Given the description of an element on the screen output the (x, y) to click on. 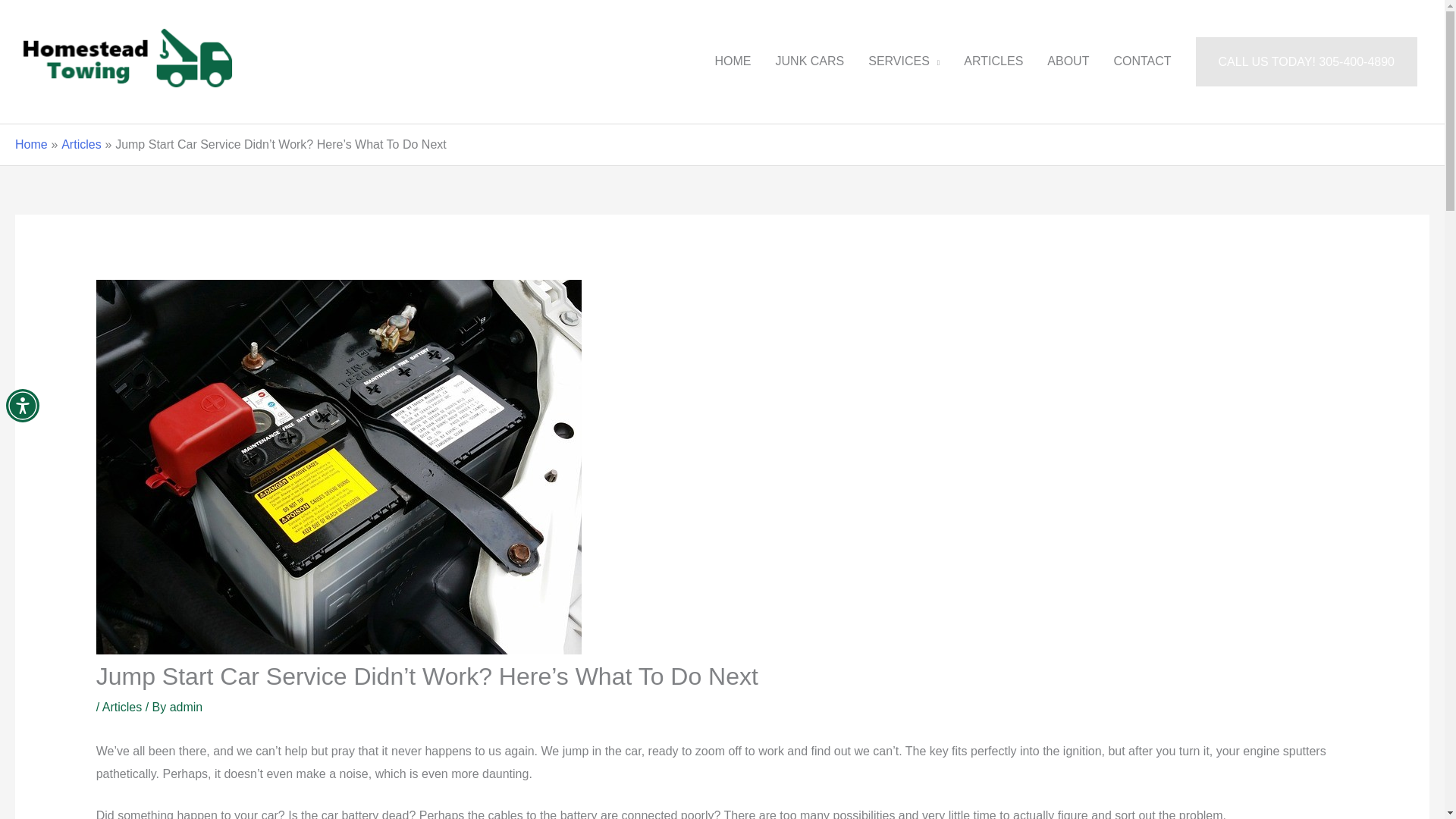
CONTACT (1141, 60)
SERVICES (904, 60)
View all posts by admin (186, 707)
admin (186, 707)
Accessibility Menu (22, 405)
ABOUT (1067, 60)
HOME (732, 60)
CALL US TODAY! 305-400-4890 (1305, 61)
Home (31, 144)
Articles (80, 144)
